Given the description of an element on the screen output the (x, y) to click on. 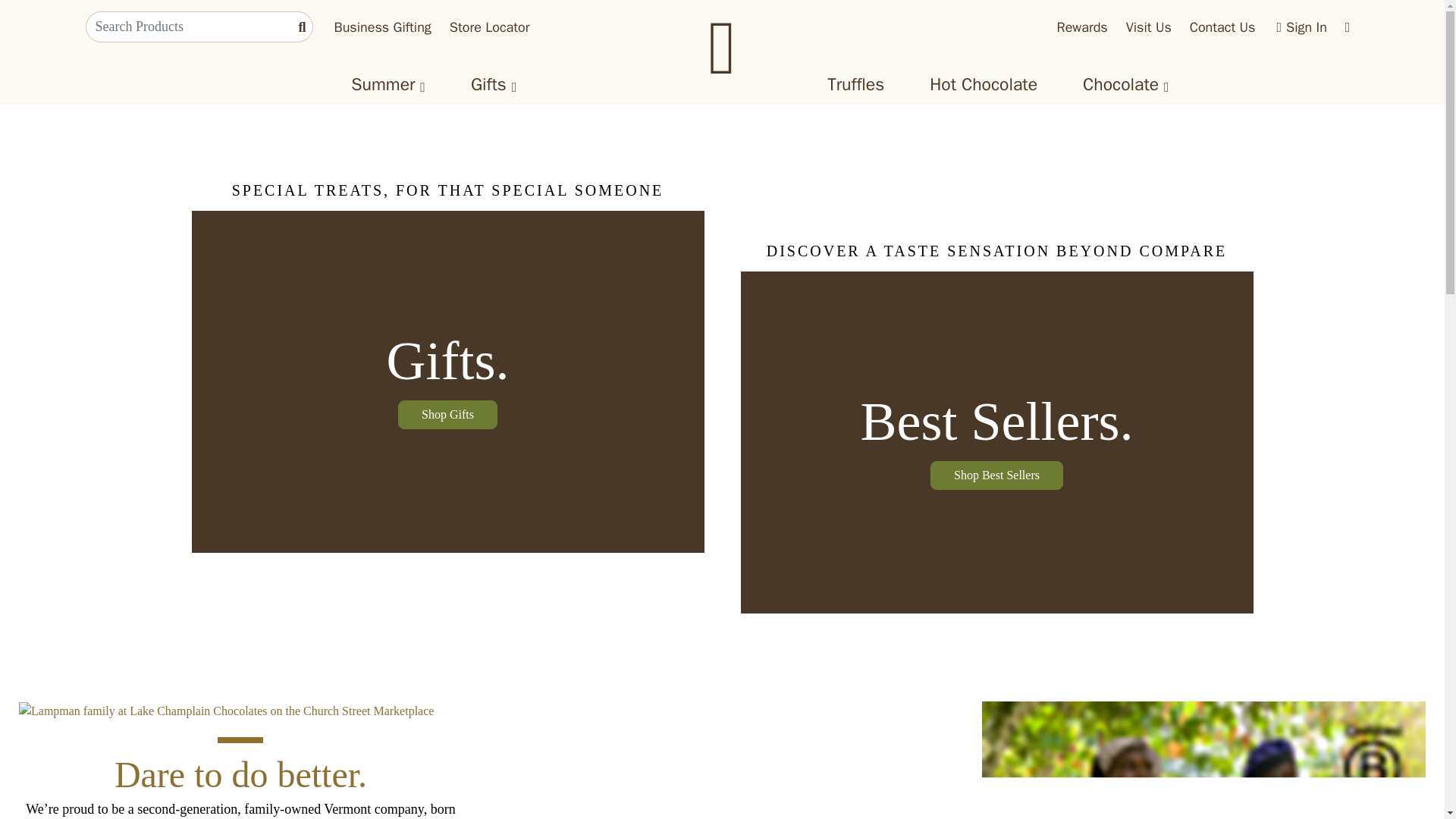
Truffles (855, 84)
Gifts (488, 84)
Contact Us (1222, 27)
Sign In (1301, 27)
Summer (382, 84)
Rewards (1081, 27)
Store Locator (489, 27)
Business Gifting (381, 27)
Visit Us (1148, 27)
